Given the description of an element on the screen output the (x, y) to click on. 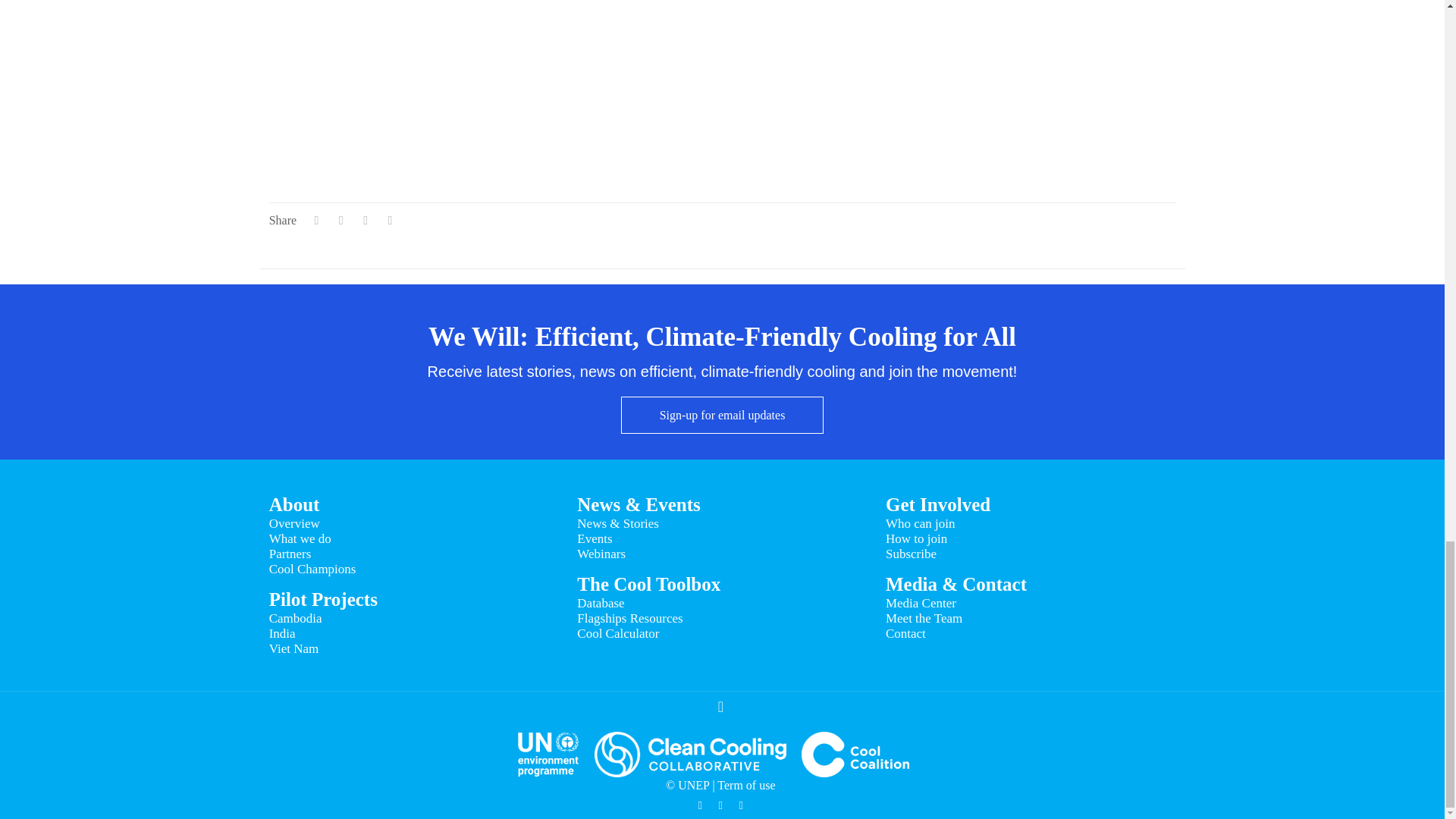
LinkedIn (741, 805)
Twitter (700, 805)
YouTube (721, 805)
